Given the description of an element on the screen output the (x, y) to click on. 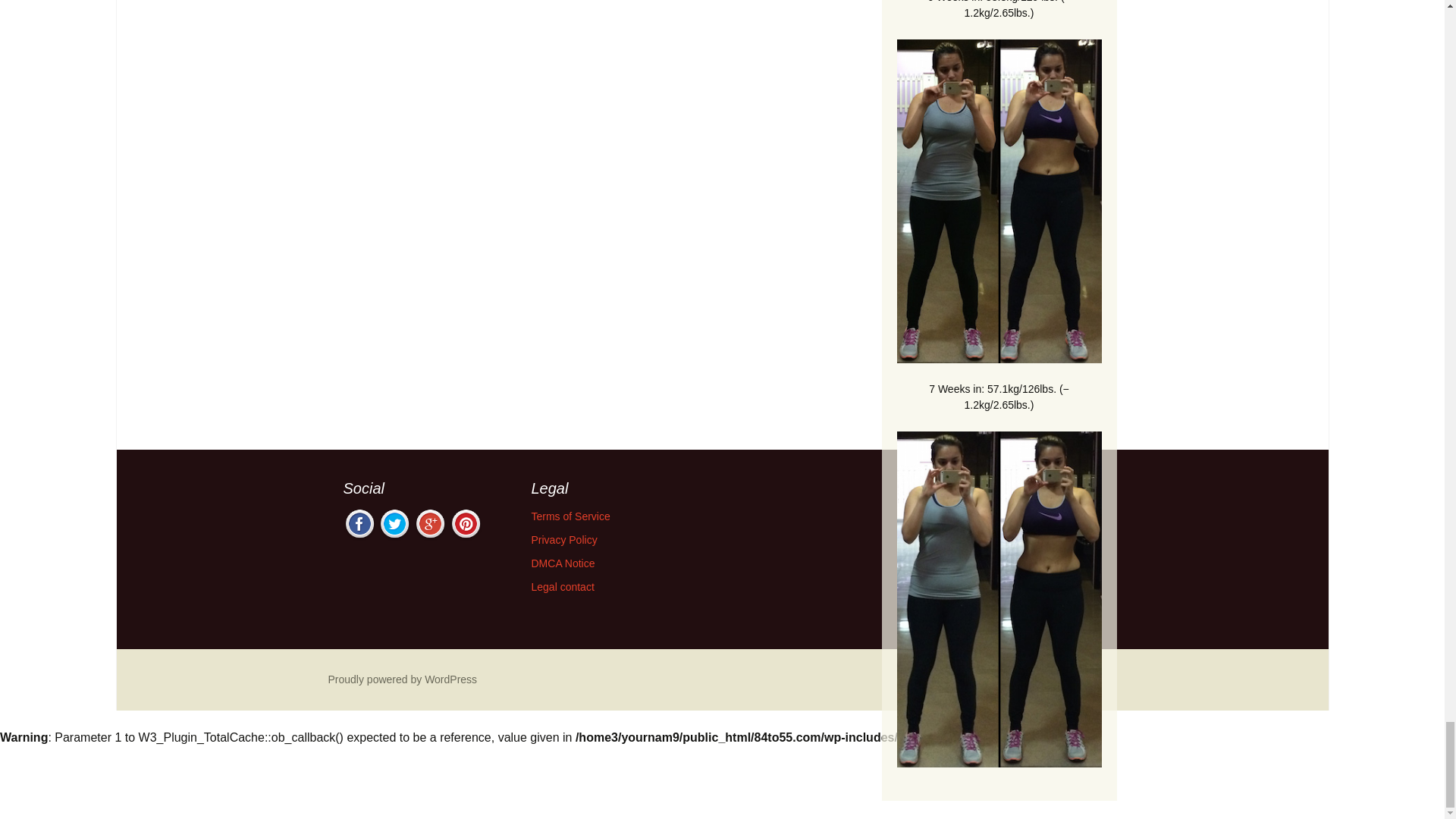
Semantic Personal Publishing Platform (402, 679)
